Given the description of an element on the screen output the (x, y) to click on. 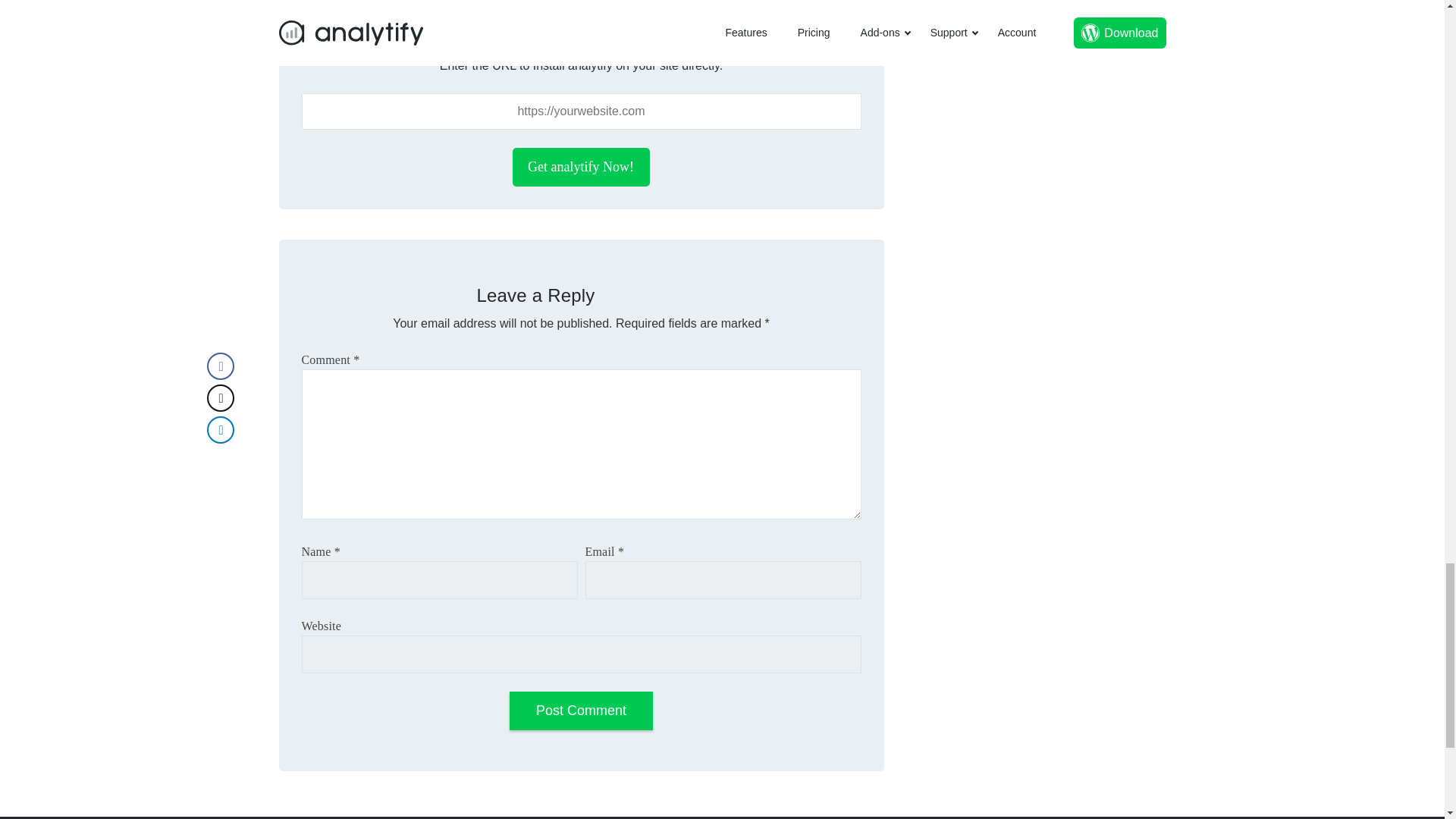
Post Comment (580, 710)
